Given the description of an element on the screen output the (x, y) to click on. 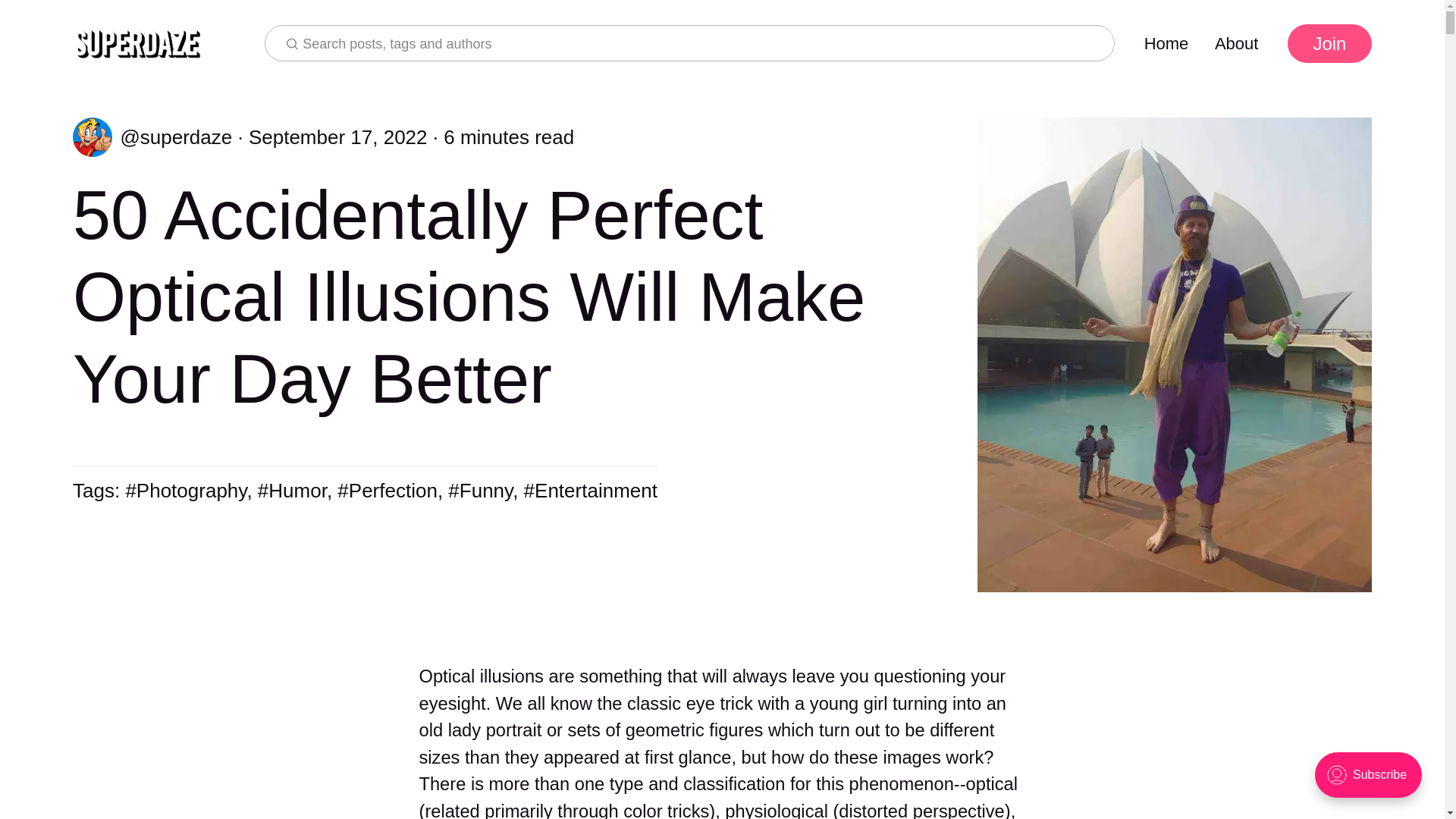
Entertainment (591, 490)
superdaze (151, 133)
Humor (291, 490)
About (1236, 43)
Home (1166, 43)
Perfection (387, 490)
Photography (185, 490)
Funny (480, 490)
Join (1329, 43)
